Given the description of an element on the screen output the (x, y) to click on. 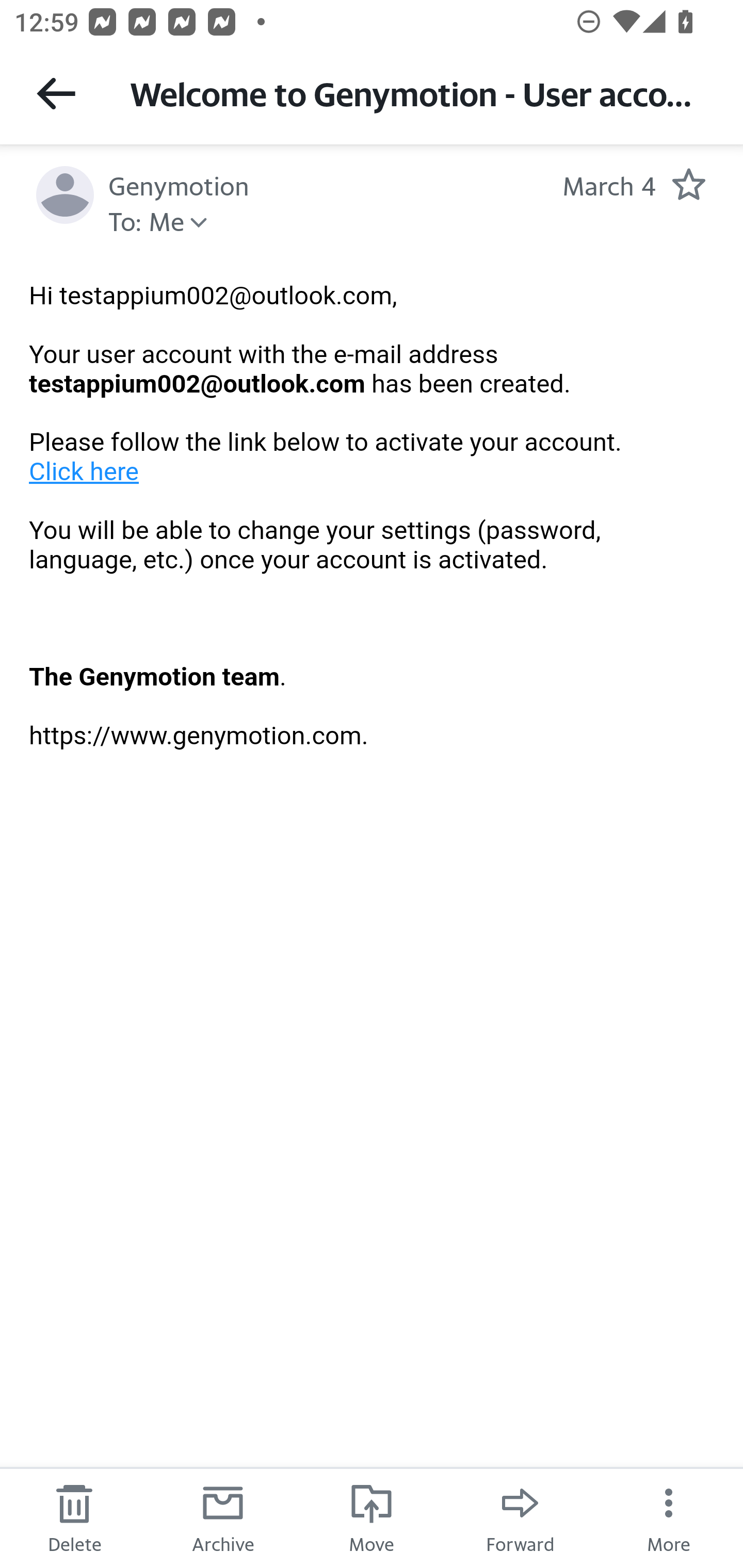
Back (55, 92)
Profile (64, 195)
Genymotion Sender Genymotion (178, 184)
Mark as starred. (688, 184)
Click here (84, 470)
Delete (74, 1517)
Archive (222, 1517)
Move (371, 1517)
Forward (519, 1517)
More (668, 1517)
